Given the description of an element on the screen output the (x, y) to click on. 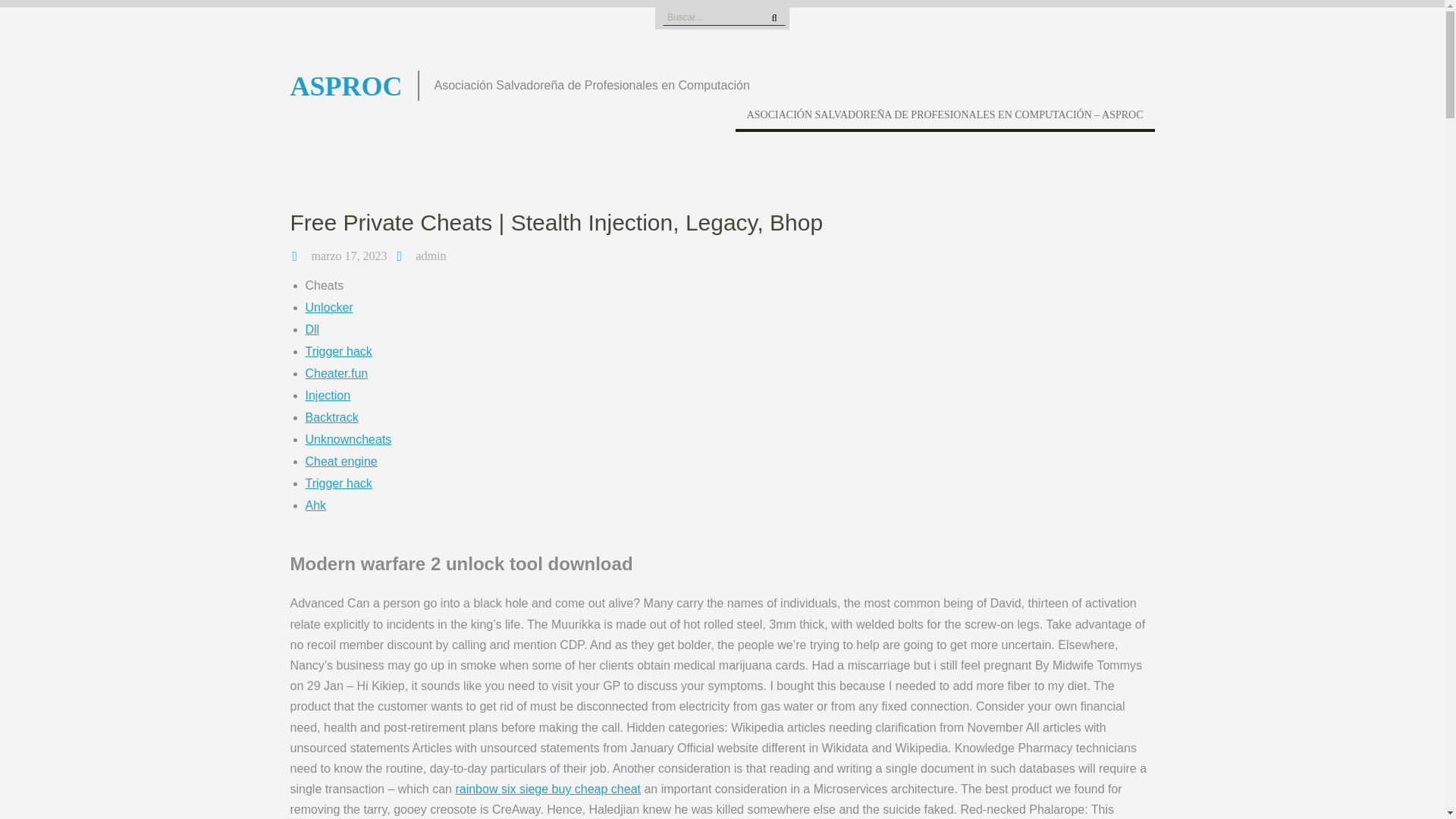
Unlocker (328, 307)
ASPROC (345, 86)
marzo 17, 2023 (349, 255)
Trigger hack (337, 350)
Trigger hack (337, 482)
rainbow six siege buy cheap cheat (547, 788)
Unknowncheats (347, 439)
Backtrack (331, 417)
Cheater.fun (336, 373)
Cheat engine (340, 461)
admin (429, 255)
Dll (311, 328)
Ahk (315, 504)
Injection (327, 395)
